Given the description of an element on the screen output the (x, y) to click on. 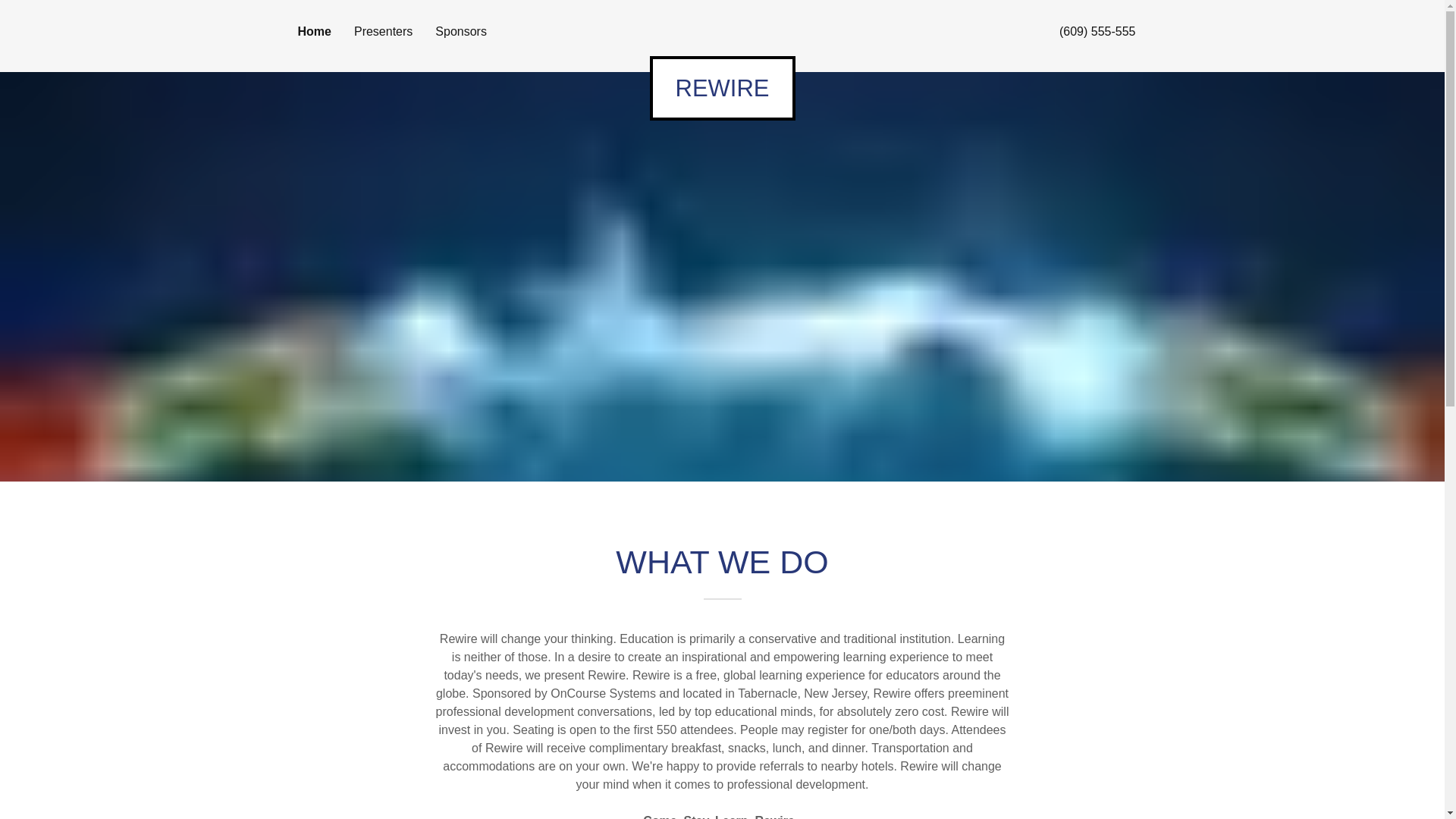
Presenters (382, 31)
REWIRE (721, 88)
Sponsors (461, 31)
Rewire (721, 88)
Home (313, 31)
